Given the description of an element on the screen output the (x, y) to click on. 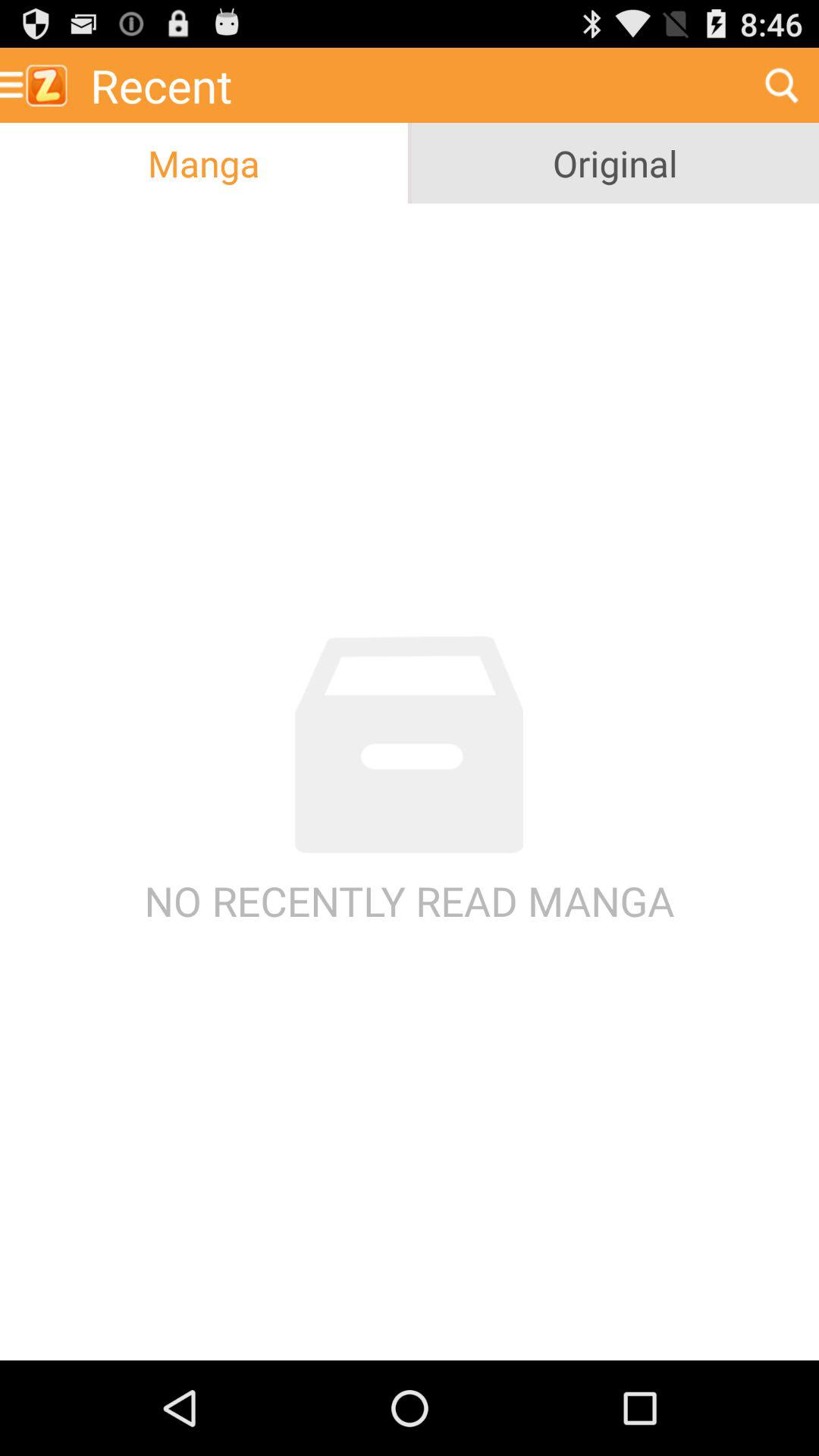
tap the icon next to recent (781, 84)
